Given the description of an element on the screen output the (x, y) to click on. 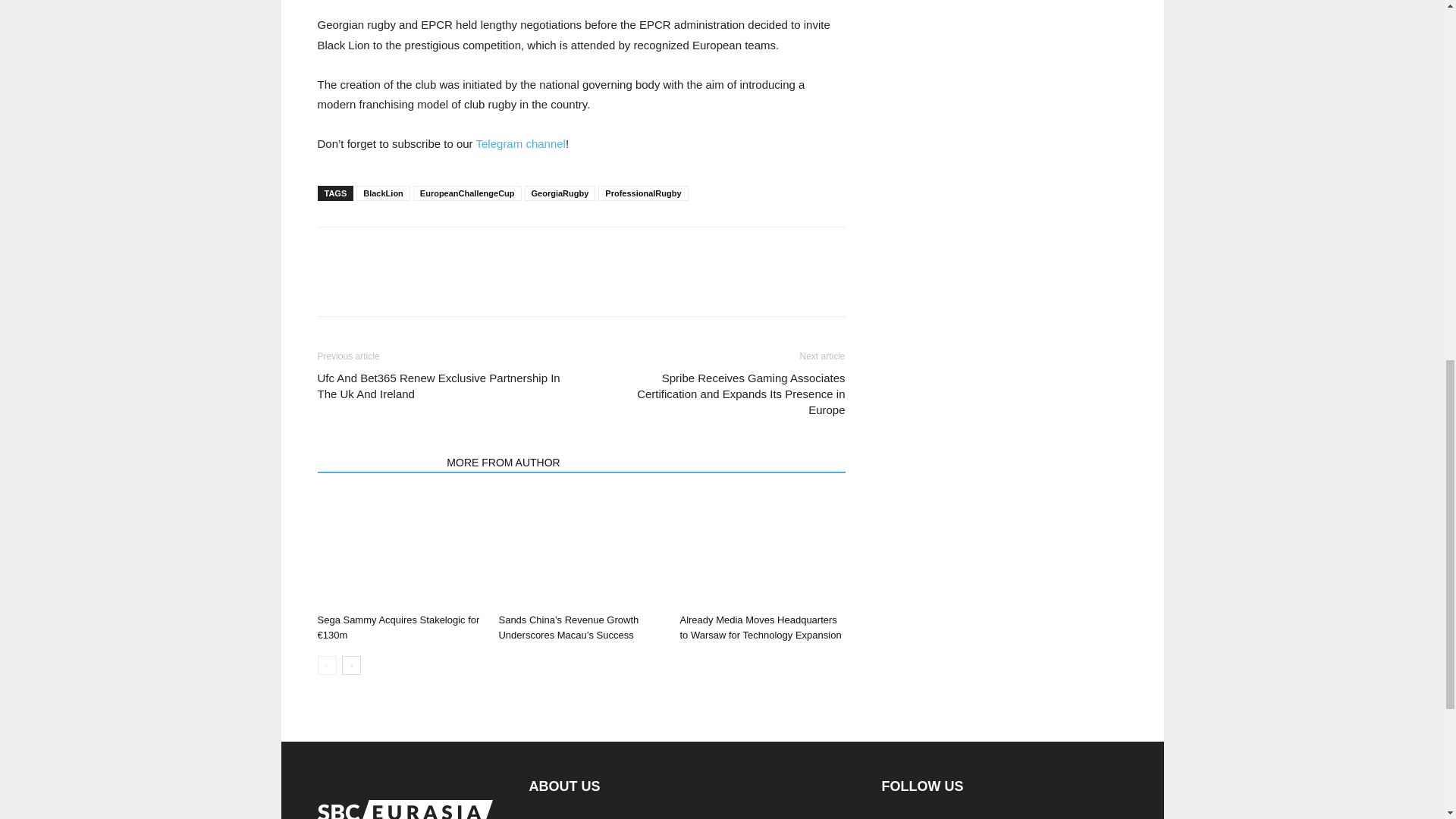
bottomFacebookLike (430, 251)
